Given the description of an element on the screen output the (x, y) to click on. 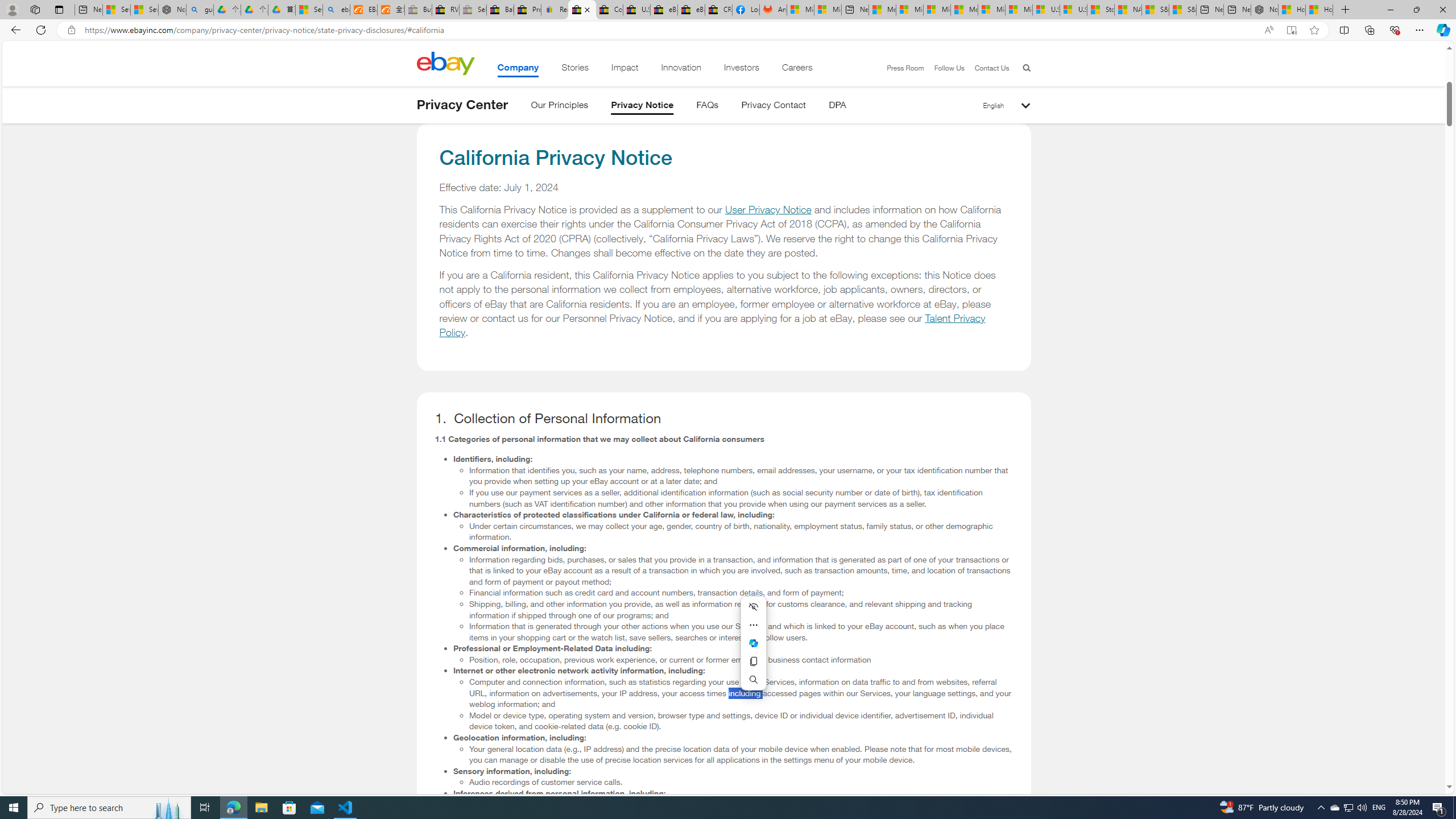
Microsoft account | Home (936, 9)
User Privacy Notice (767, 209)
How to Use a Monitor With Your Closed Laptop (1319, 9)
FAQs (707, 107)
Privacy Center (462, 104)
Consumer Health Data Privacy Policy - eBay Inc. (609, 9)
